Given the description of an element on the screen output the (x, y) to click on. 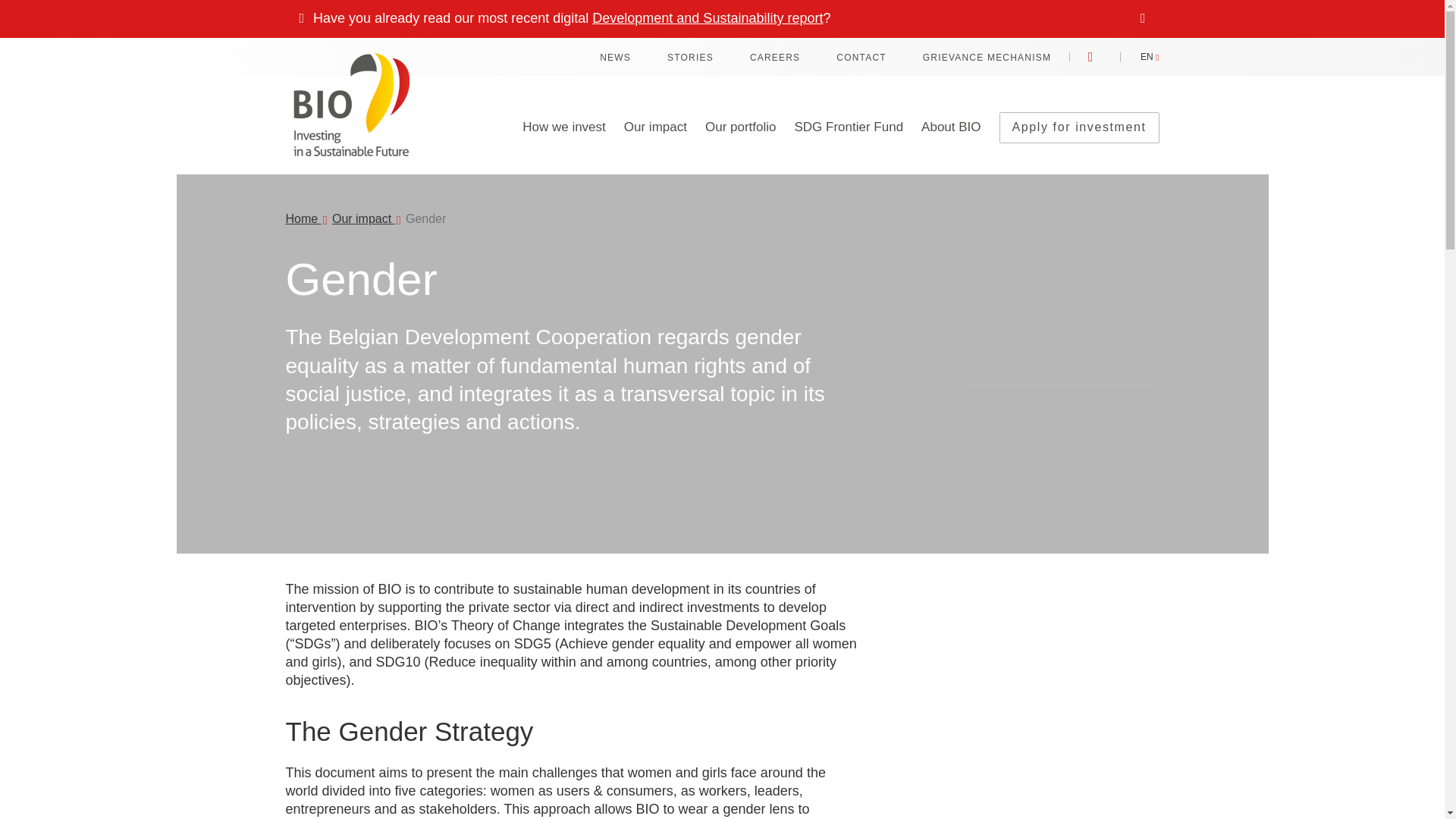
STORIES (689, 57)
Home (302, 218)
Our impact (362, 218)
Development and Sustainability report (707, 17)
GRIEVANCE MECHANISM (987, 57)
SDG Frontier Fund (849, 144)
CONTACT (860, 57)
CAREERS (774, 57)
Our portfolio (740, 144)
NEWS (614, 57)
